Given the description of an element on the screen output the (x, y) to click on. 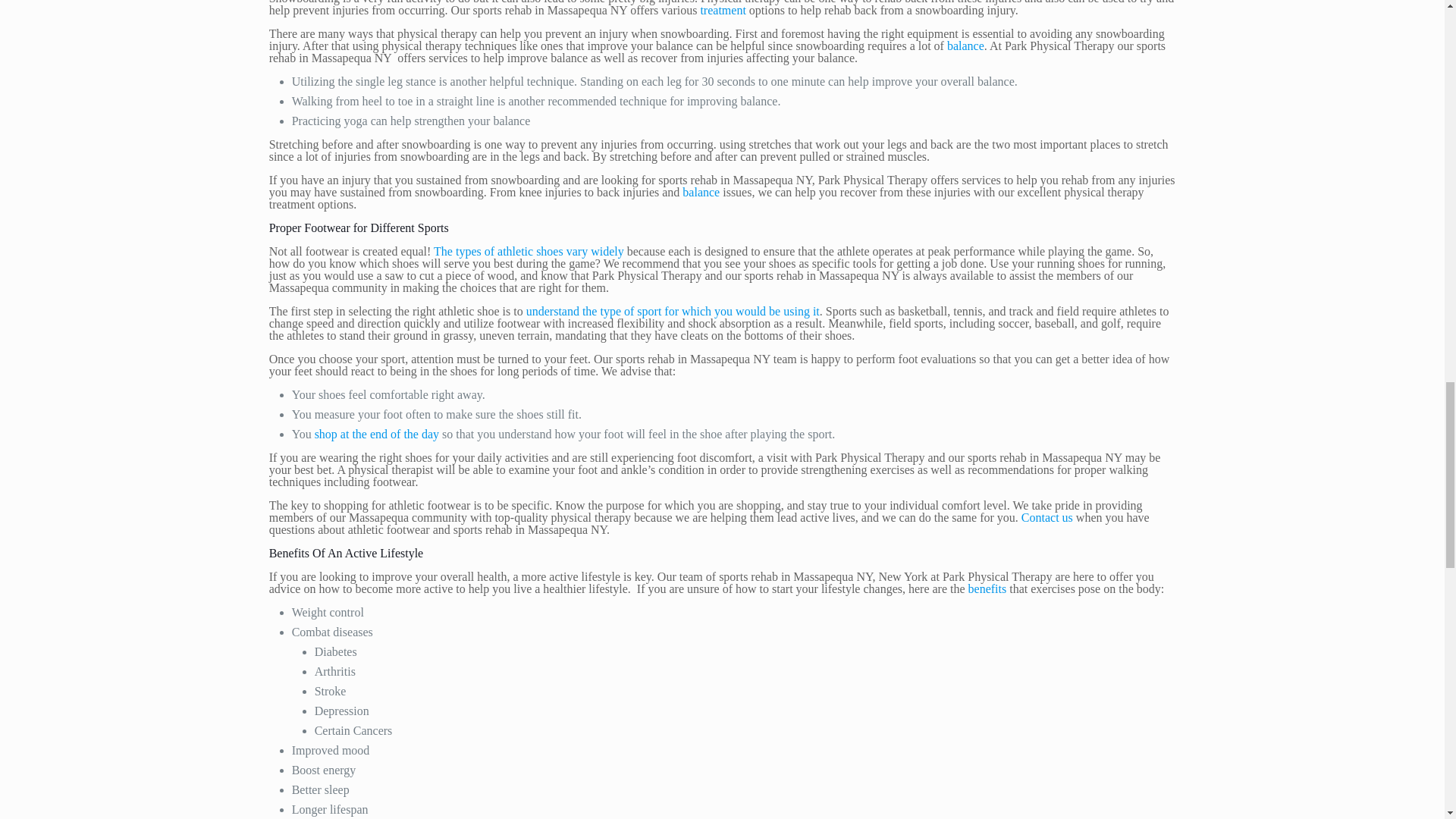
balance (965, 45)
treatment (722, 10)
balance (700, 192)
